Given the description of an element on the screen output the (x, y) to click on. 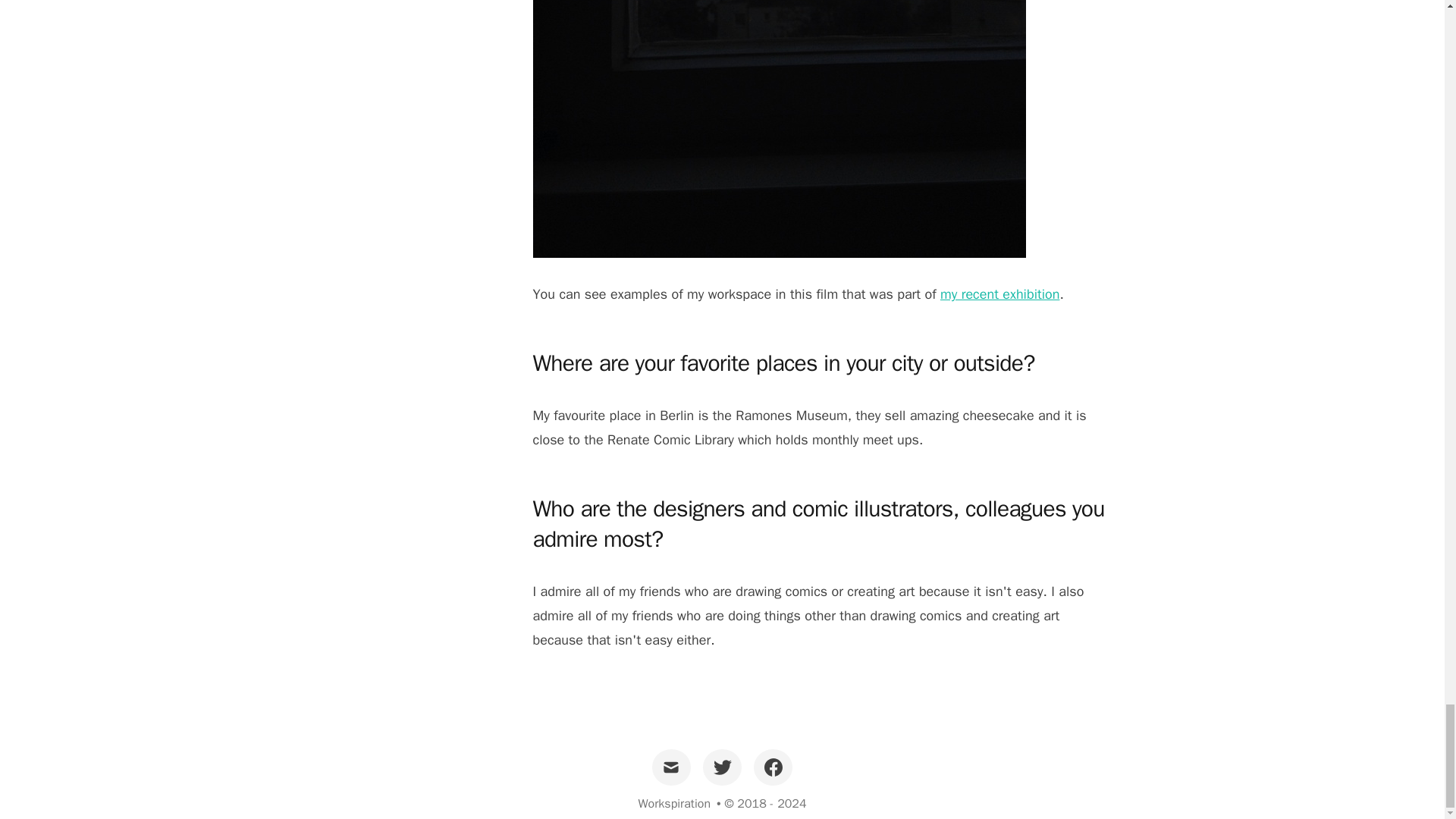
my recent exhibition (999, 293)
facebook (773, 767)
mail (671, 767)
twitter (722, 767)
Workspiration (673, 803)
